Given the description of an element on the screen output the (x, y) to click on. 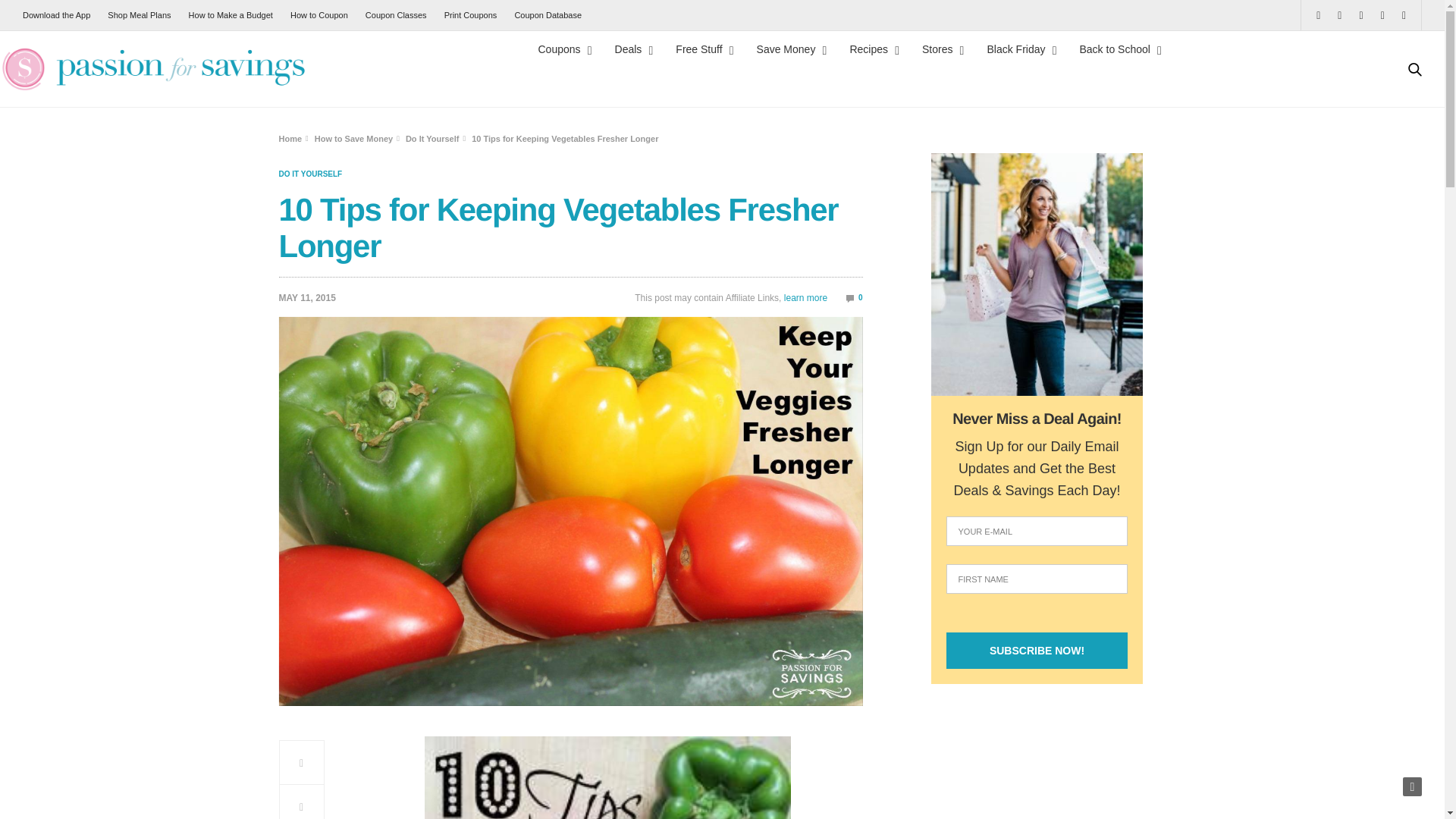
Do It Yourself (310, 174)
10 Tips for Keeping Vegetables Fresher Longer (853, 297)
Subscribe Now! (1037, 650)
